Given the description of an element on the screen output the (x, y) to click on. 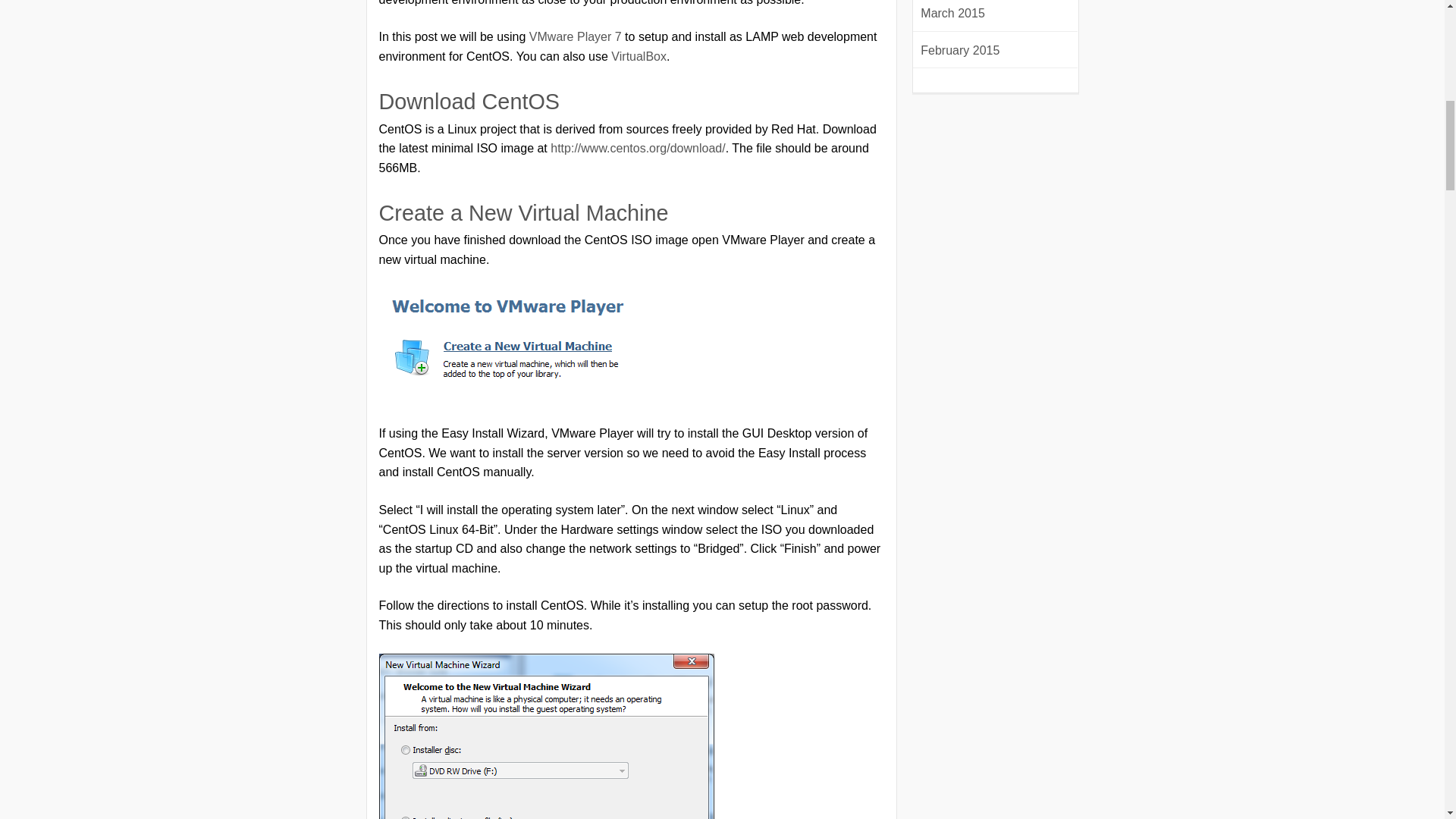
VMware Player 7 (575, 36)
VirtualBox (638, 56)
